Given the description of an element on the screen output the (x, y) to click on. 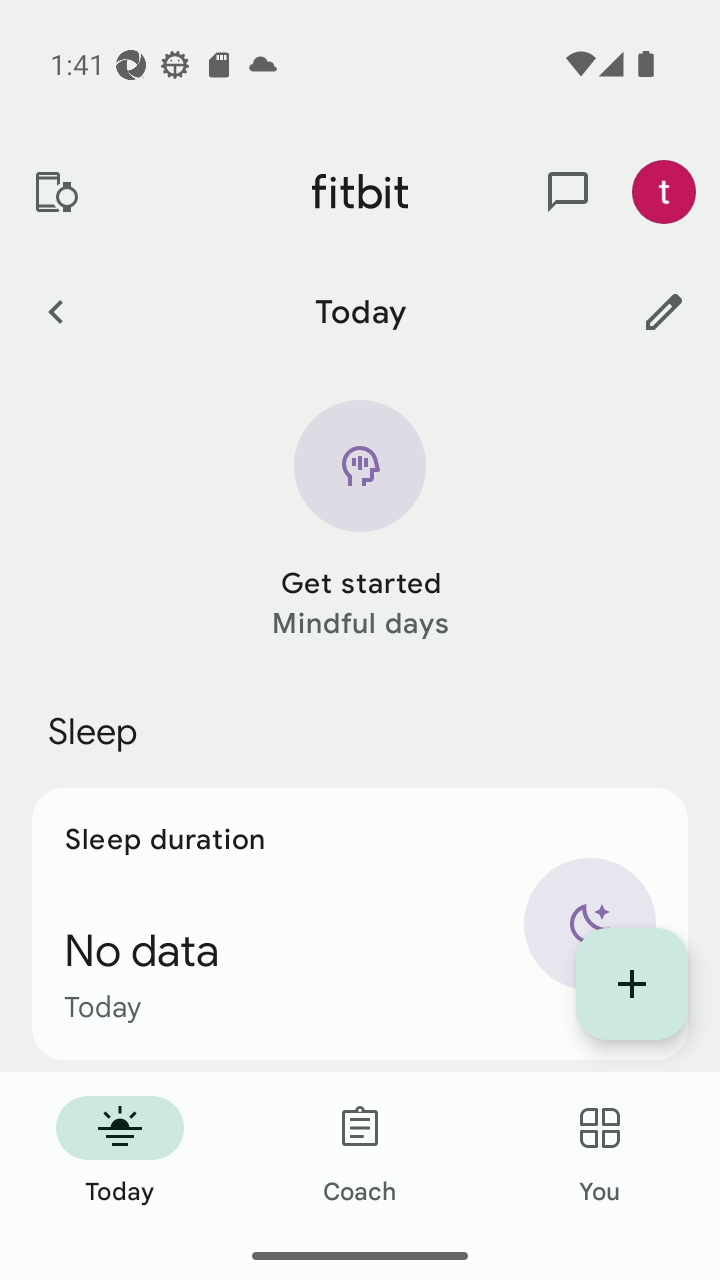
Devices and apps (55, 191)
messages and notifications (567, 191)
Previous Day (55, 311)
Customize (664, 311)
Mindfulness icon Get started Mindful days (360, 521)
Sleep duration No data Today Sleep static arc (359, 923)
Display list of quick log entries (632, 983)
Coach (359, 1151)
You (600, 1151)
